Given the description of an element on the screen output the (x, y) to click on. 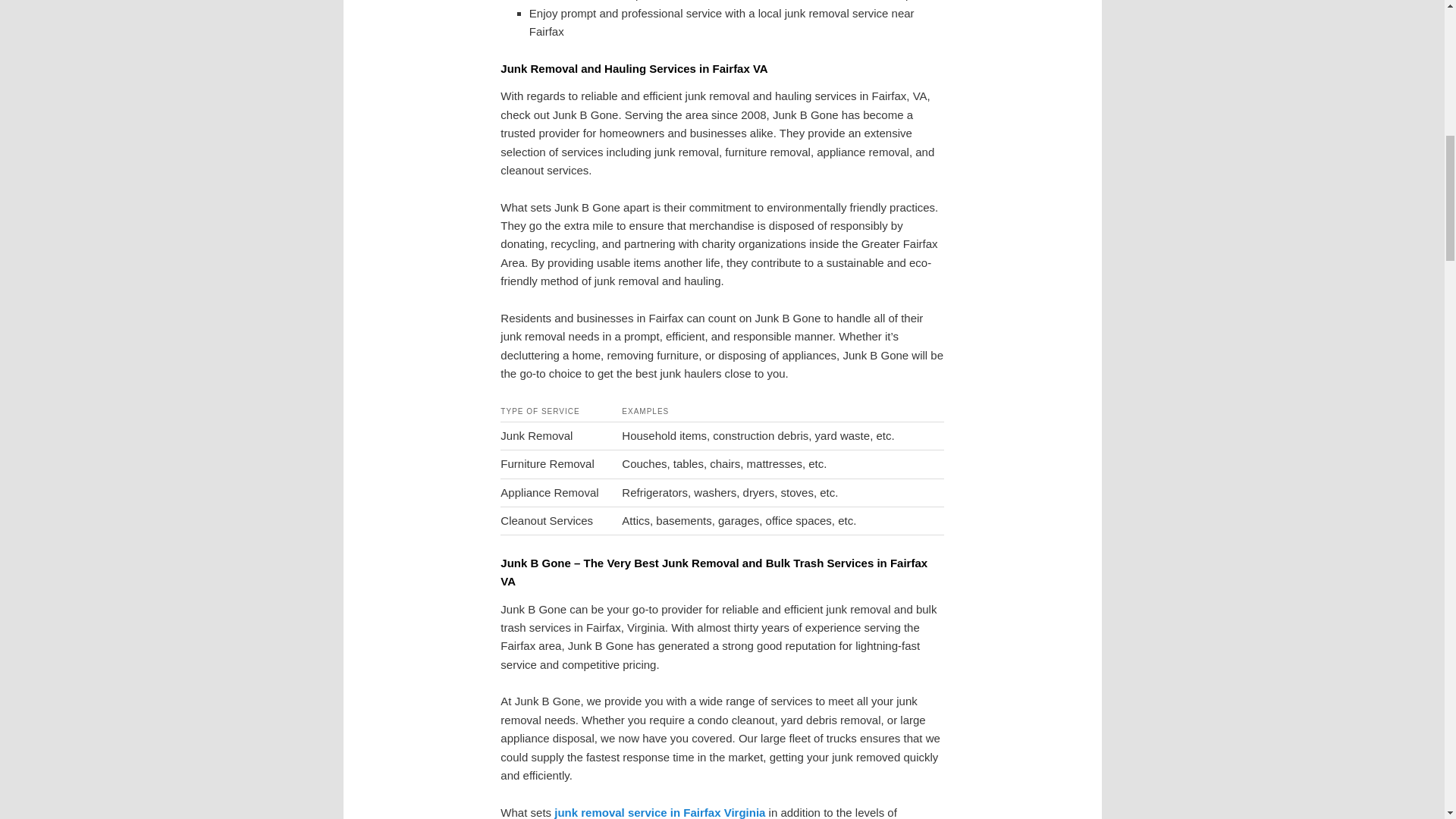
junk removal service in Fairfax Virginia (659, 812)
